Given the description of an element on the screen output the (x, y) to click on. 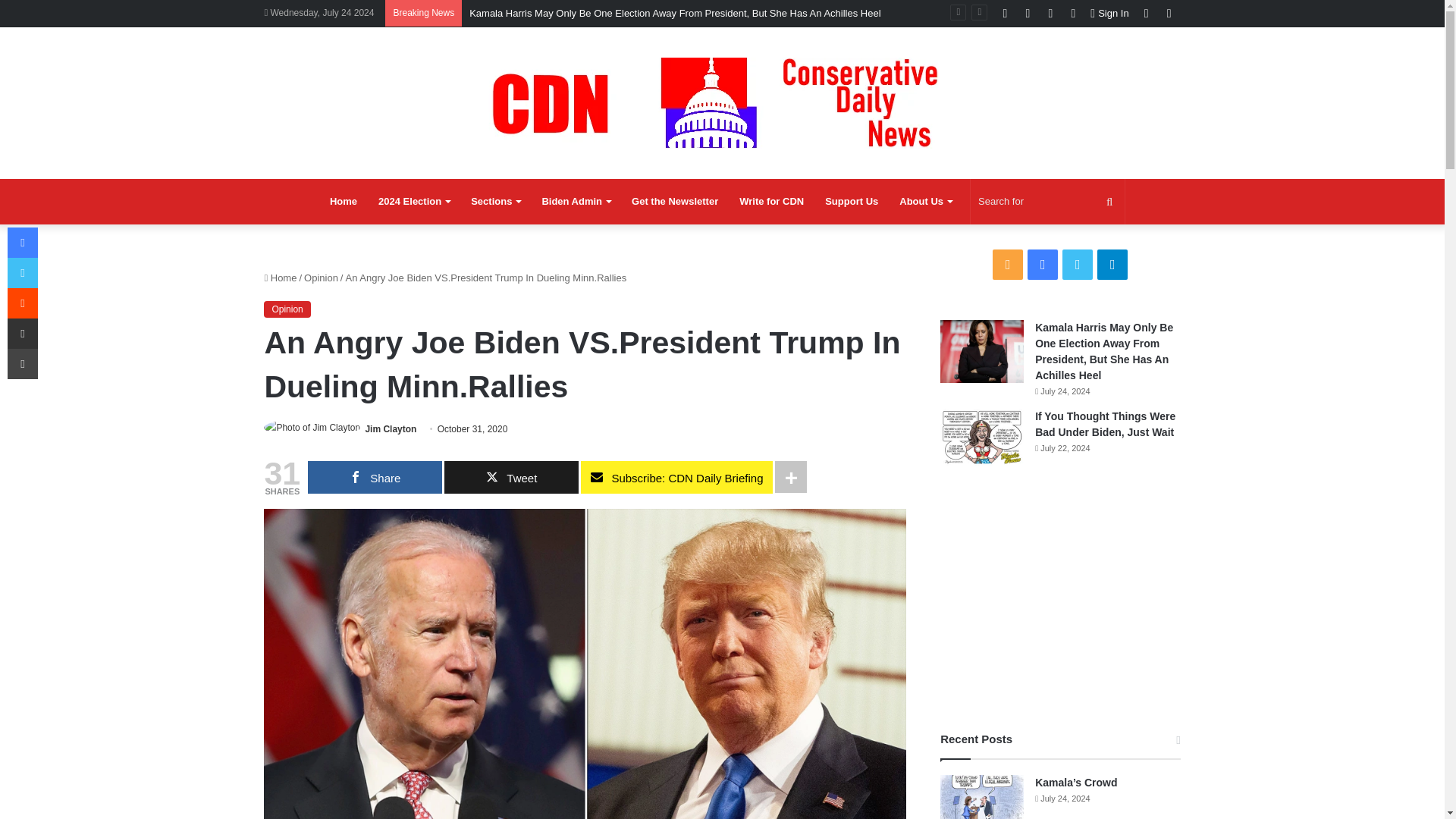
Jim Clayton (390, 429)
Biden Admin (576, 201)
Get the Newsletter (675, 201)
Support Us (850, 201)
Sections (495, 201)
2024 Election (414, 201)
Home (343, 201)
About Us (925, 201)
Write for CDN (771, 201)
Become a CDN Contributor (771, 201)
Search for (1047, 201)
Conservative Daily News (721, 102)
Support CDN With a Small Donation (850, 201)
